Given the description of an element on the screen output the (x, y) to click on. 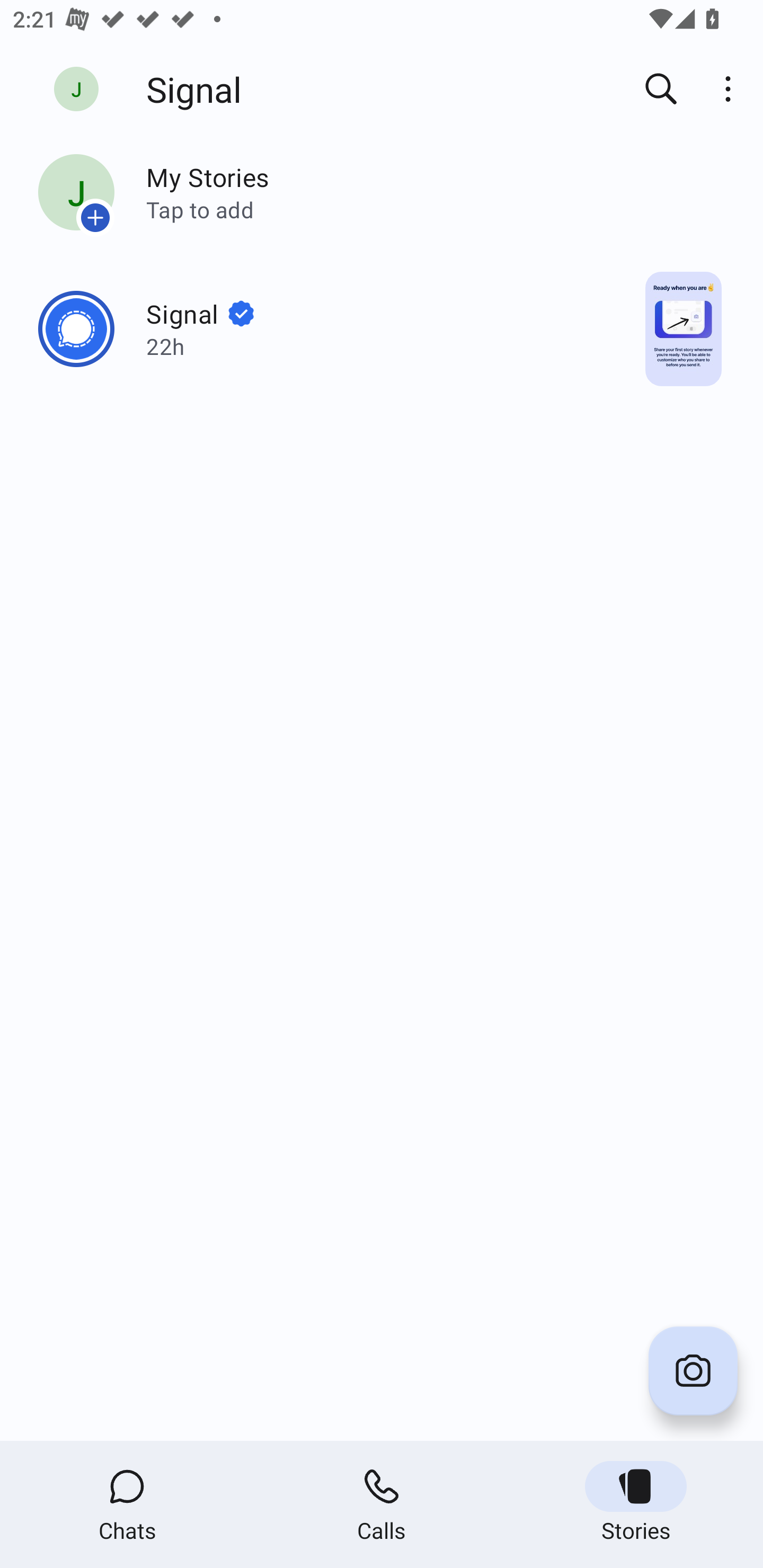
My Stories Tap to add (381, 191)
